Given the description of an element on the screen output the (x, y) to click on. 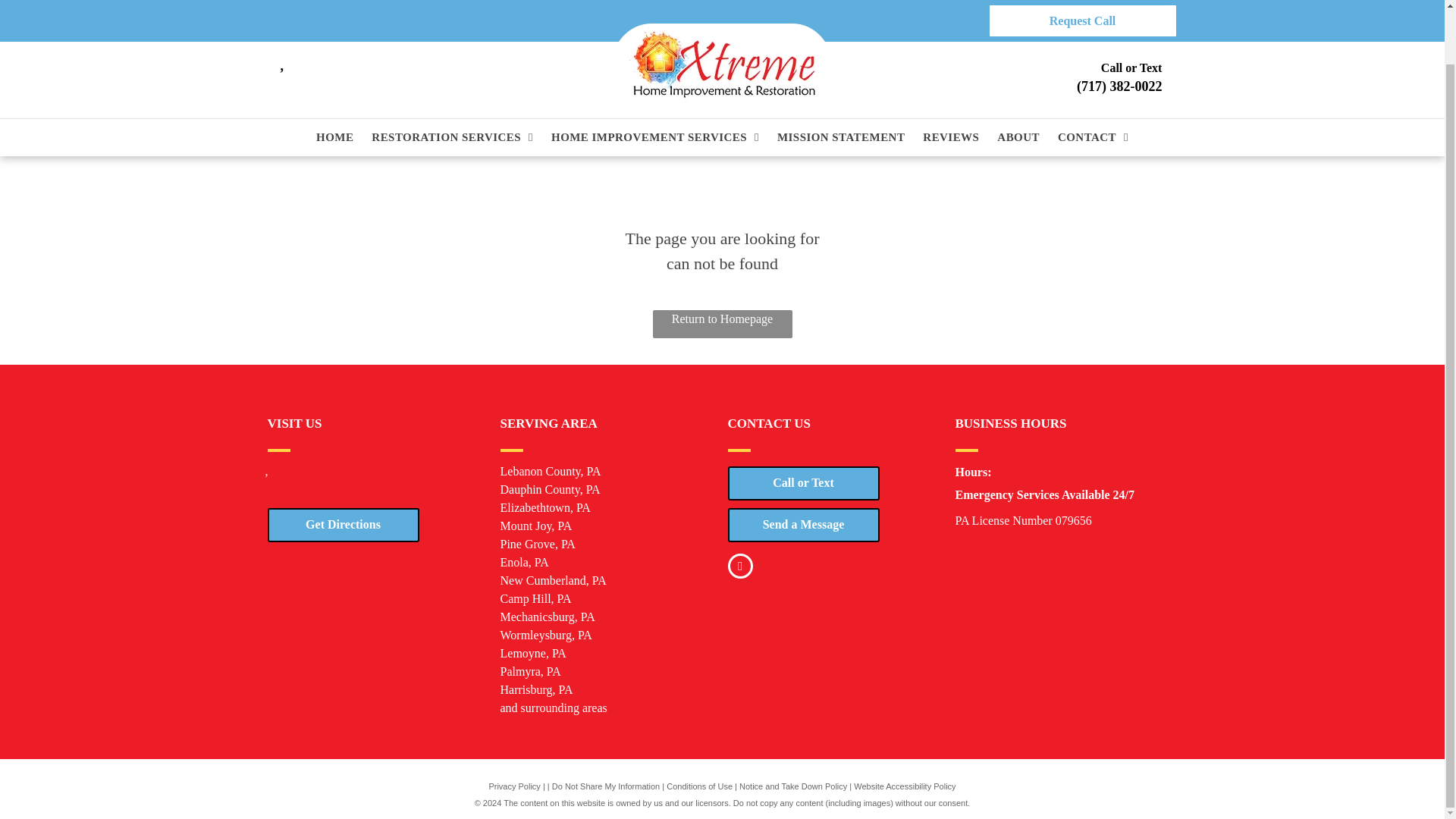
MISSION STATEMENT (840, 79)
Notice and Take Down Policy (793, 786)
Call or Text (803, 483)
Do Not Share My Information (605, 786)
Get Directions (342, 523)
Privacy Policy (513, 786)
CONTACT (1093, 79)
Website Accessibility Policy (904, 786)
Return to Homepage (722, 324)
HOME (334, 79)
